Given the description of an element on the screen output the (x, y) to click on. 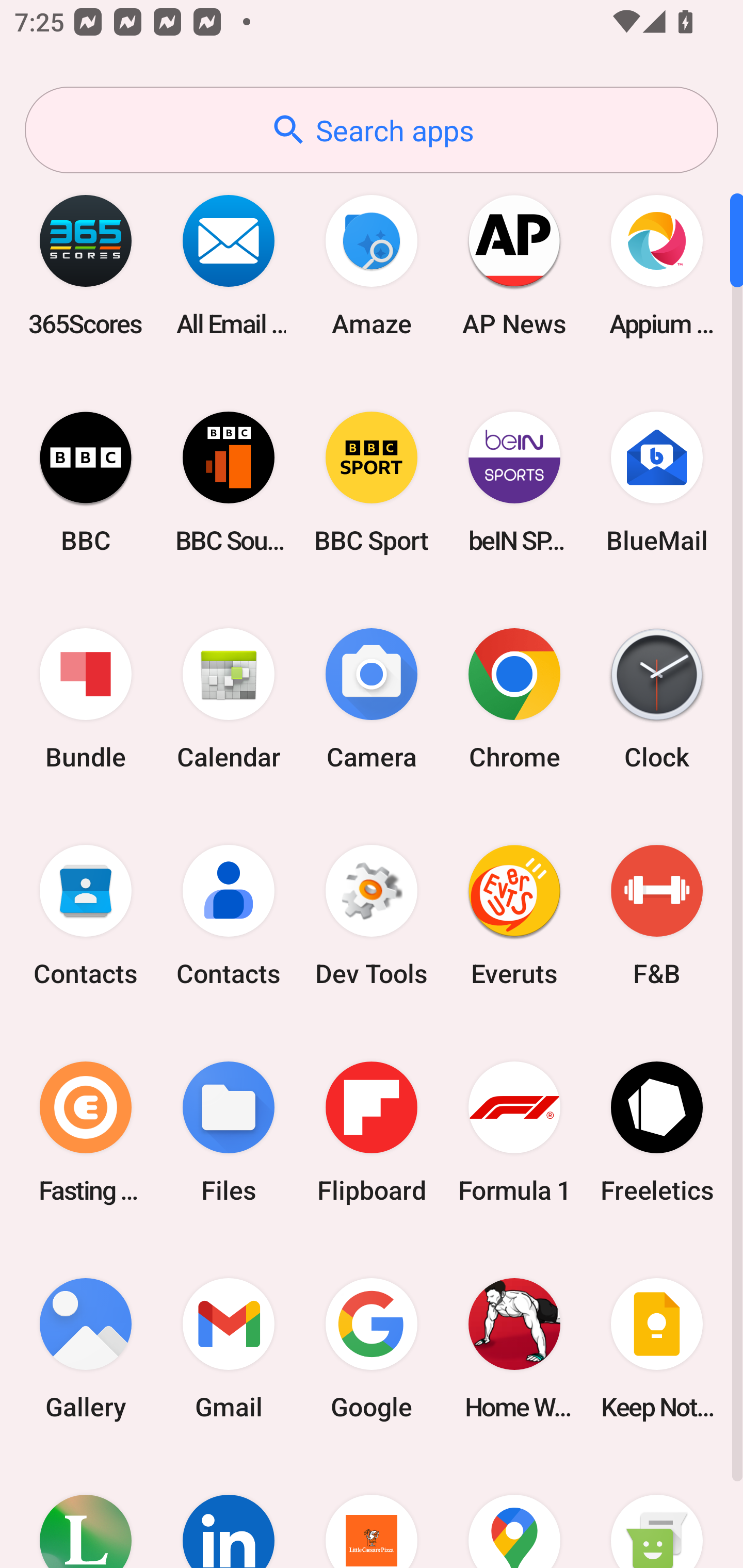
  Search apps (371, 130)
365Scores (85, 264)
All Email Connect (228, 264)
Amaze (371, 264)
AP News (514, 264)
Appium Settings (656, 264)
BBC (85, 482)
BBC Sounds (228, 482)
BBC Sport (371, 482)
beIN SPORTS (514, 482)
BlueMail (656, 482)
Bundle (85, 699)
Calendar (228, 699)
Camera (371, 699)
Chrome (514, 699)
Clock (656, 699)
Contacts (85, 915)
Contacts (228, 915)
Dev Tools (371, 915)
Everuts (514, 915)
F&B (656, 915)
Fasting Coach (85, 1131)
Files (228, 1131)
Flipboard (371, 1131)
Formula 1 (514, 1131)
Freeletics (656, 1131)
Gallery (85, 1348)
Gmail (228, 1348)
Google (371, 1348)
Home Workout (514, 1348)
Keep Notes (656, 1348)
Lifesum (85, 1512)
LinkedIn (228, 1512)
Little Caesars Pizza (371, 1512)
Maps (514, 1512)
Messaging (656, 1512)
